Given the description of an element on the screen output the (x, y) to click on. 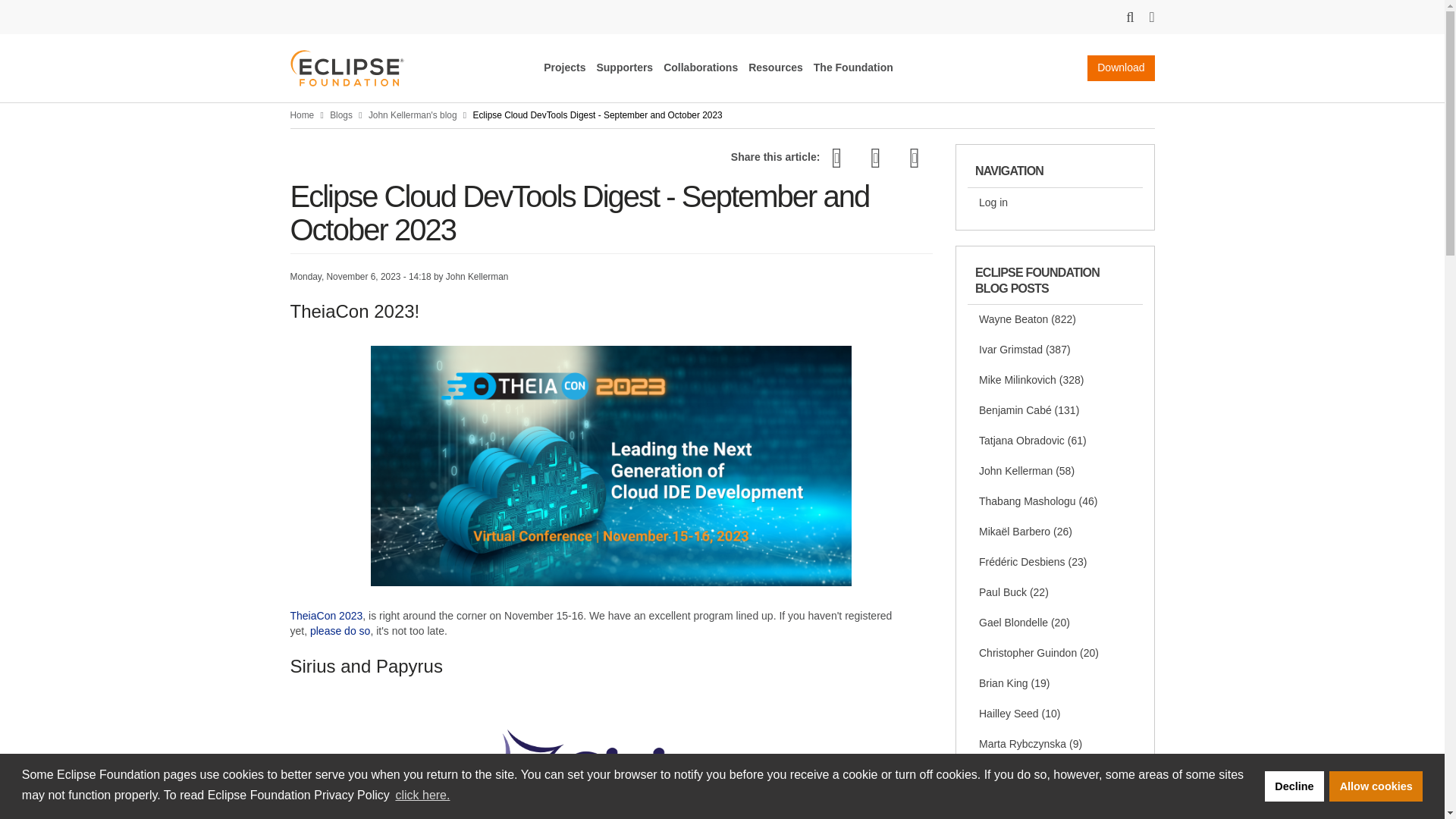
The Foundation (853, 67)
Collaborations (700, 67)
Supporters (623, 67)
click here. (422, 794)
Download (1120, 68)
Resources (775, 67)
Decline (1294, 786)
Projects (563, 67)
Allow cookies (1375, 786)
